Given the description of an element on the screen output the (x, y) to click on. 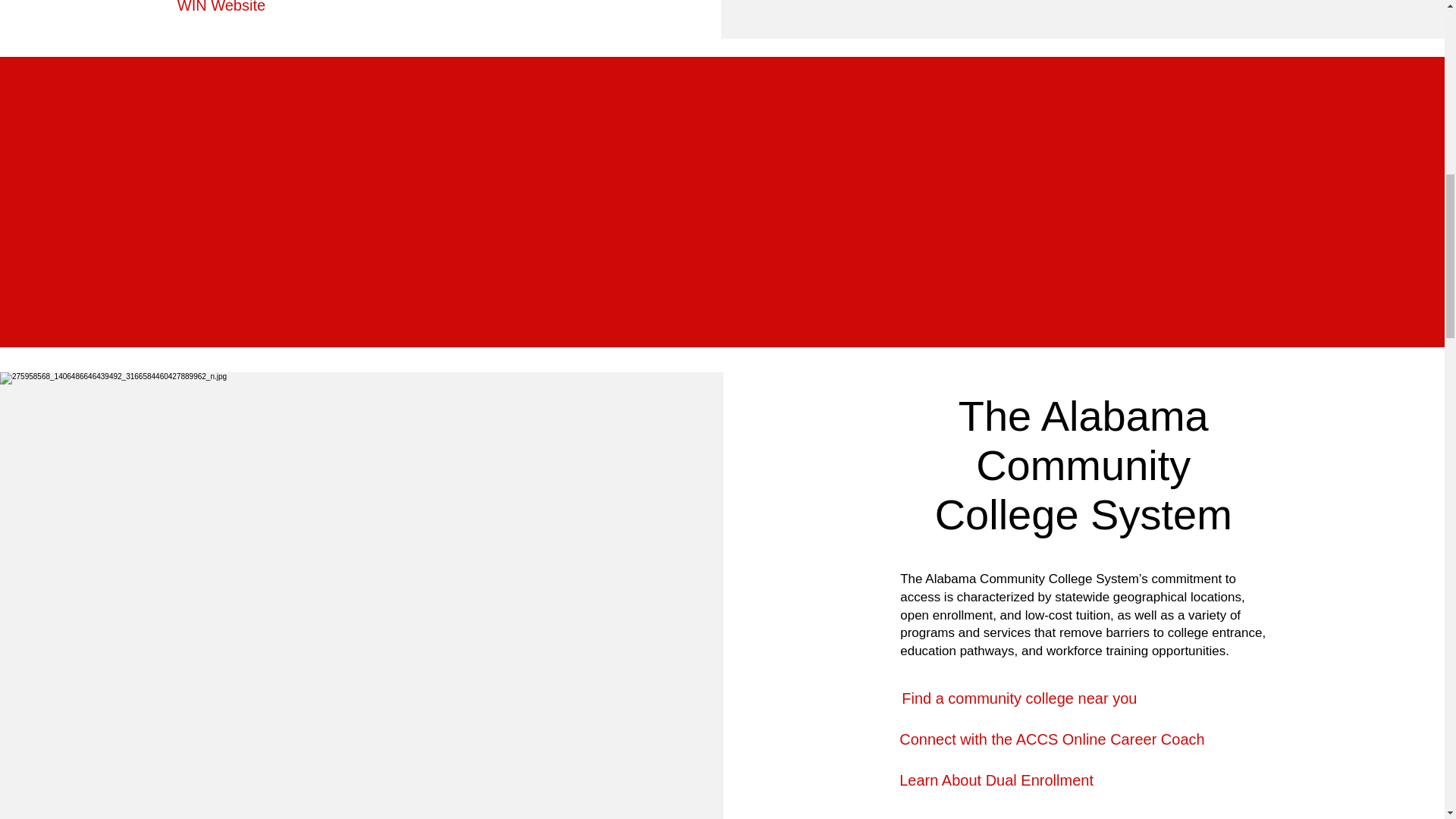
WIN Website (220, 6)
Find a community college near you (1019, 698)
Connect with the ACCS Online Career Coach (1051, 739)
Learn About Dual Enrollment (996, 780)
